Given the description of an element on the screen output the (x, y) to click on. 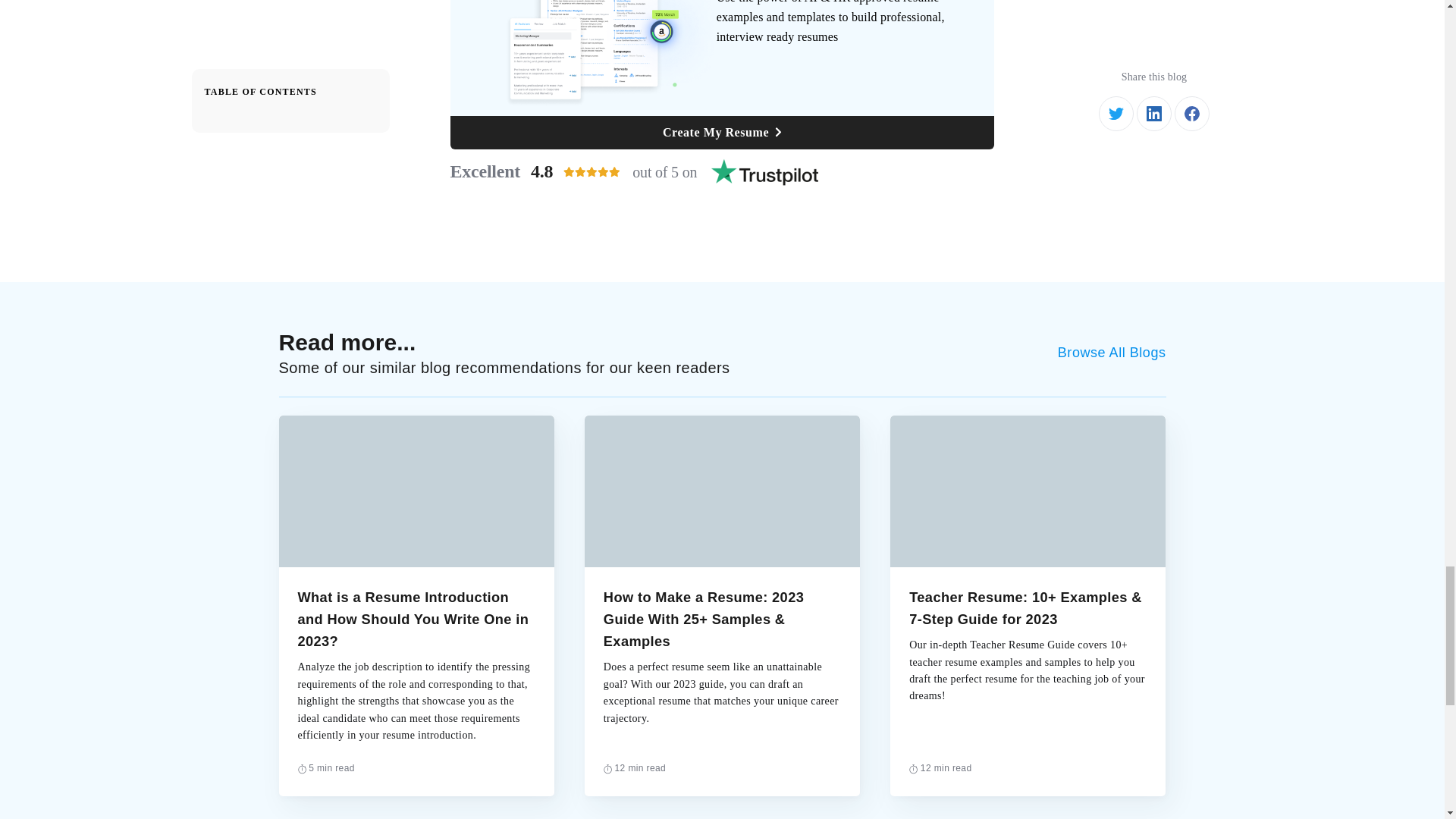
Create My Resume (721, 172)
Browse All Blogs (721, 132)
